Given the description of an element on the screen output the (x, y) to click on. 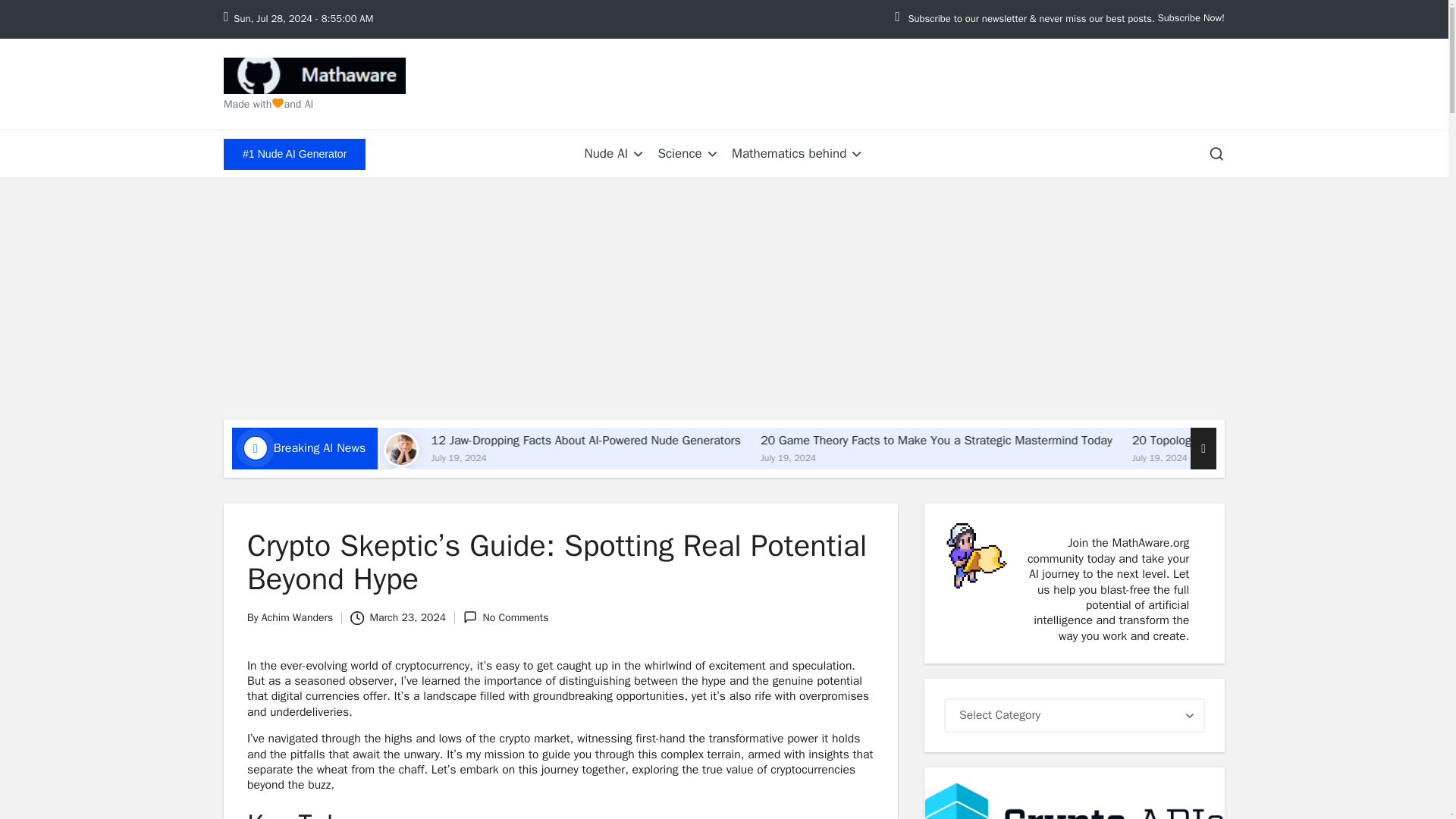
Subscribe Now! (1190, 18)
selective focus photo of an amazed boy reading a book (564, 449)
